Given the description of an element on the screen output the (x, y) to click on. 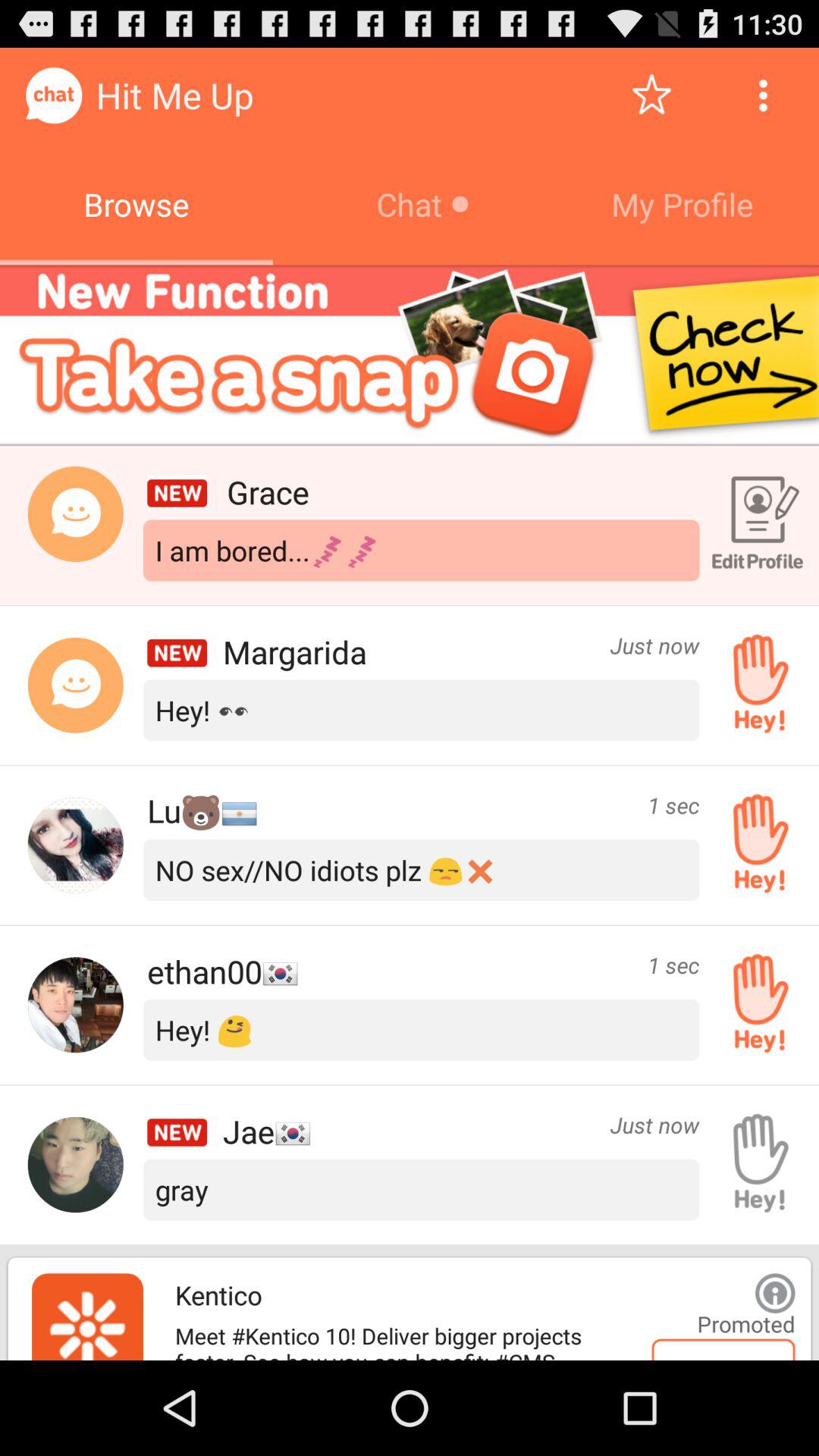
click to take a snap (409, 355)
